Given the description of an element on the screen output the (x, y) to click on. 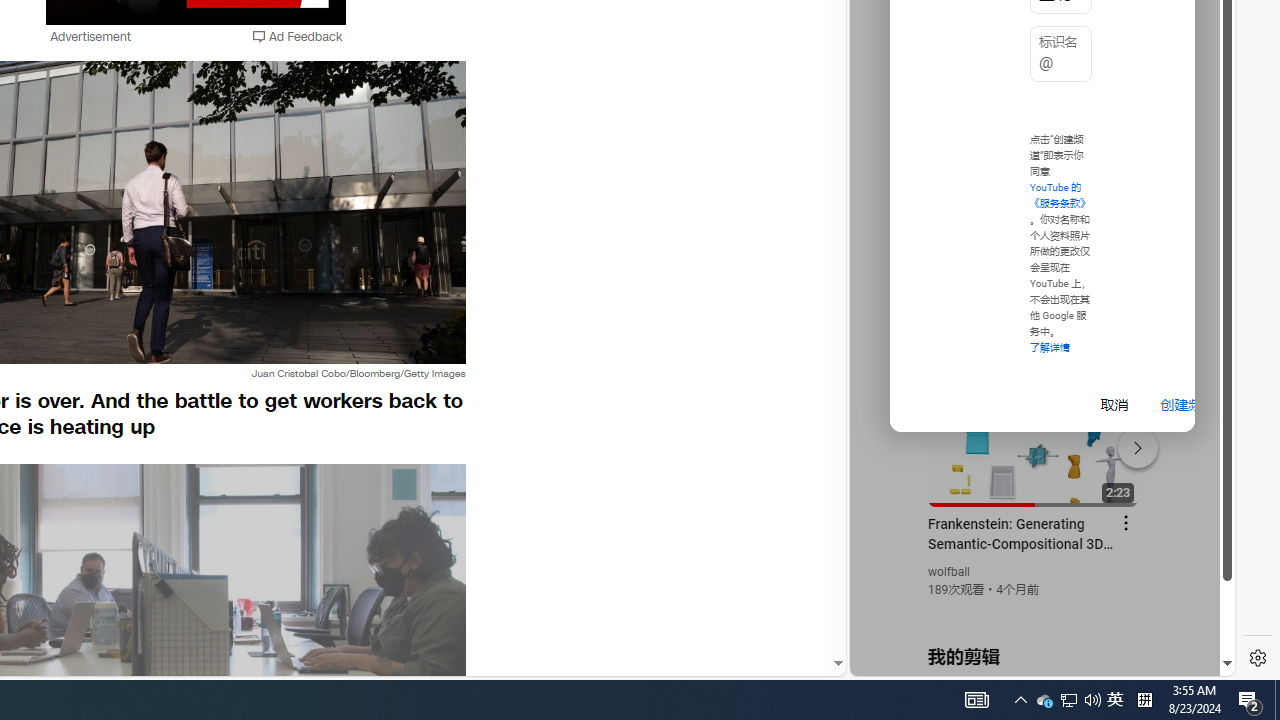
Click to scroll right (1196, 83)
#you (1034, 439)
Class: dict_pnIcon rms_img (1028, 660)
wolfball (949, 572)
you (1034, 609)
YouTube (1034, 432)
Actions for this site (1131, 443)
US[ju] (917, 660)
